Given the description of an element on the screen output the (x, y) to click on. 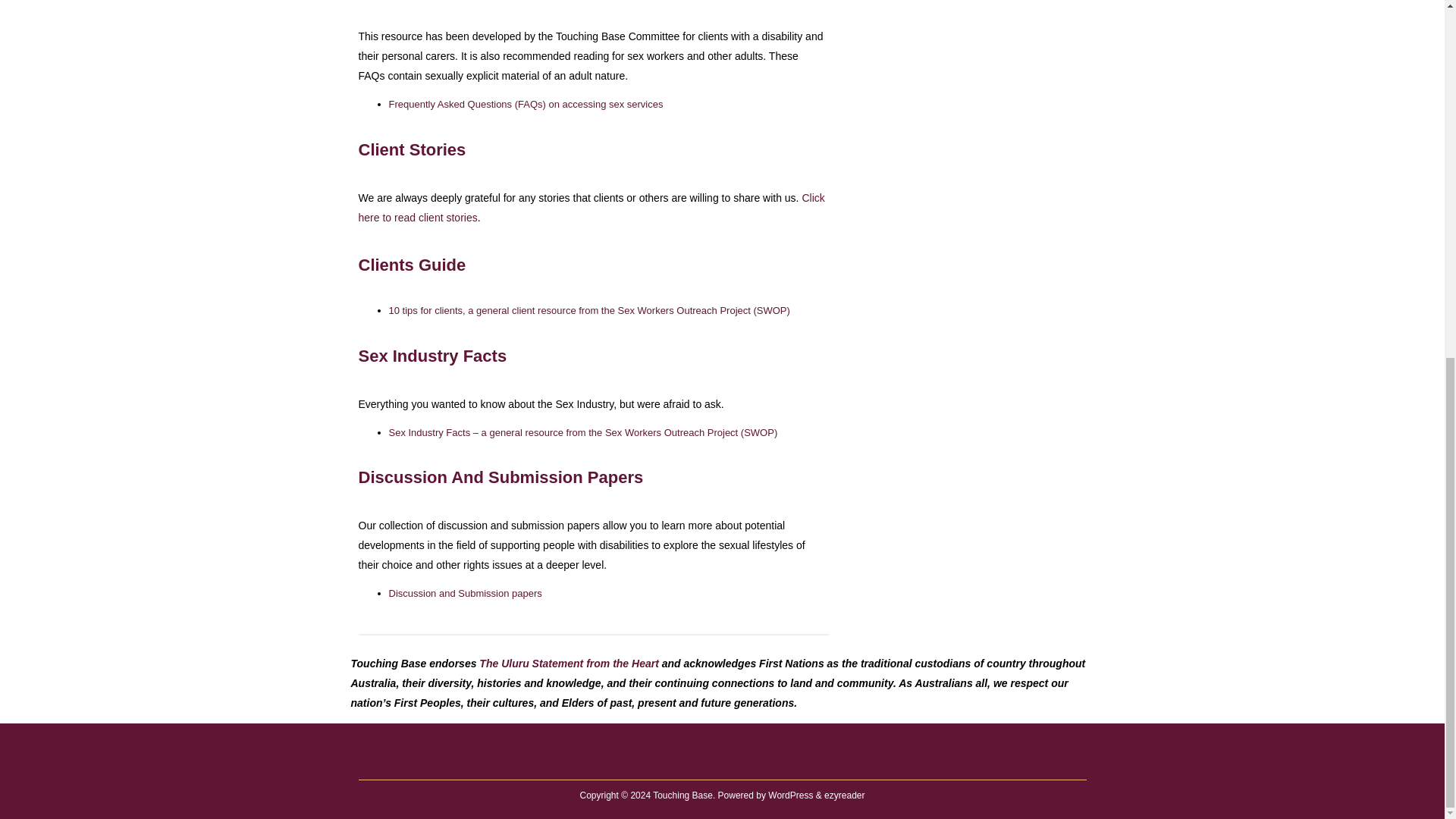
ezyreader (844, 795)
Sex Industry Facts (582, 432)
WordPress (790, 795)
Stories (591, 207)
Discussion and Submission Papers (464, 593)
10 tips for clients (588, 310)
